Given the description of an element on the screen output the (x, y) to click on. 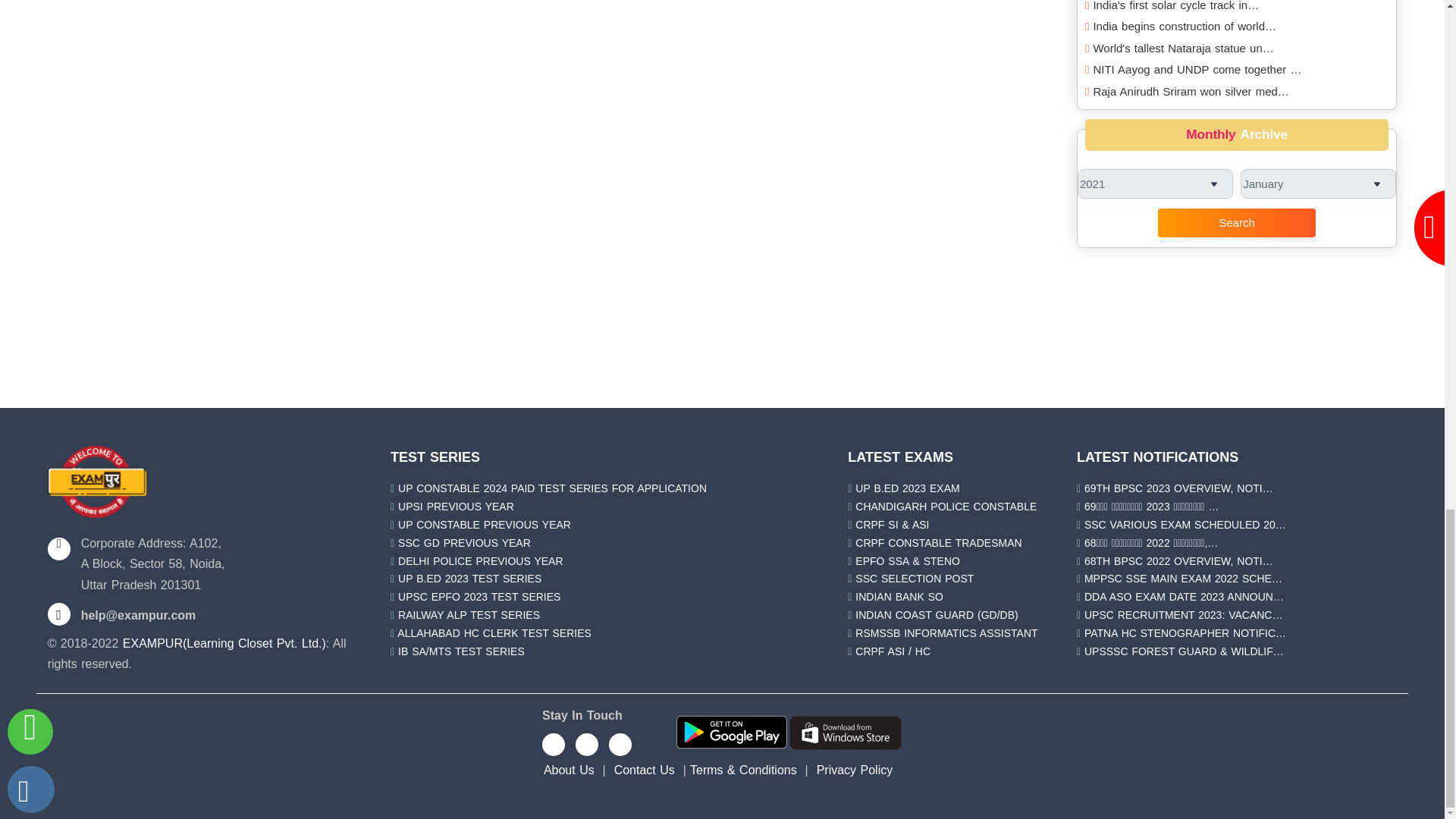
MPPSC SSE MAIN EXAM 2022 SCHEDULE: GET YOUR ADMIT CARD (1183, 578)
DDA ASO EXAM DATE 2023 ANNOUNCED: ADMIT CARD DETAILS (1184, 596)
SSC VARIOUS EXAM SCHEDULED 2022: CHECK YOUR EXAM DATE HERE (1184, 524)
